Given the description of an element on the screen output the (x, y) to click on. 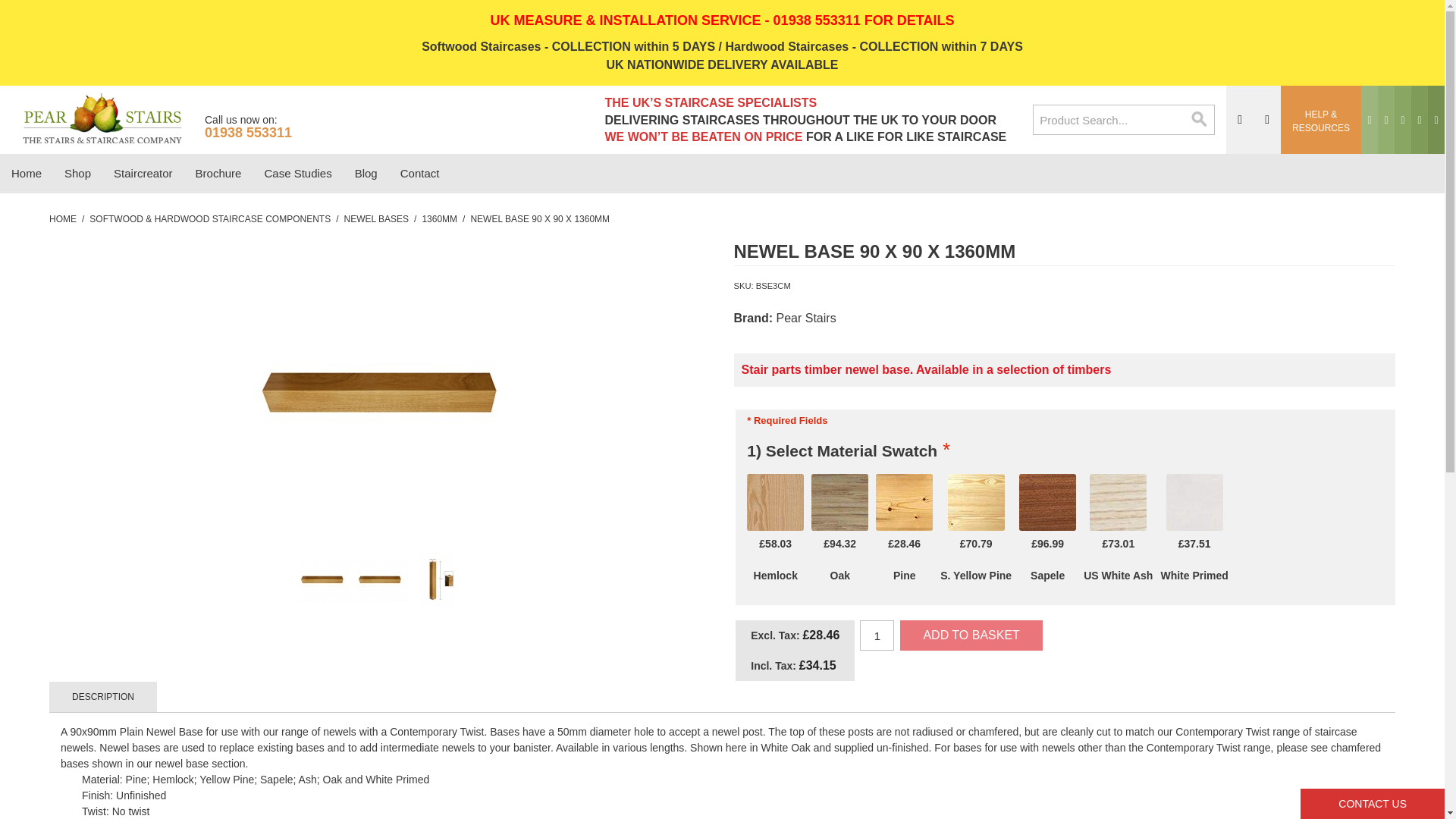
Search (1199, 119)
Go to Home Page (63, 219)
Brochure (218, 173)
Contact (419, 173)
01938 553311 (248, 132)
NEWEL BASES (376, 219)
Newel Base 90 x 90 x 1360mm (379, 392)
ADD TO BASKET (970, 634)
Home (26, 173)
1360MM (439, 219)
